Given the description of an element on the screen output the (x, y) to click on. 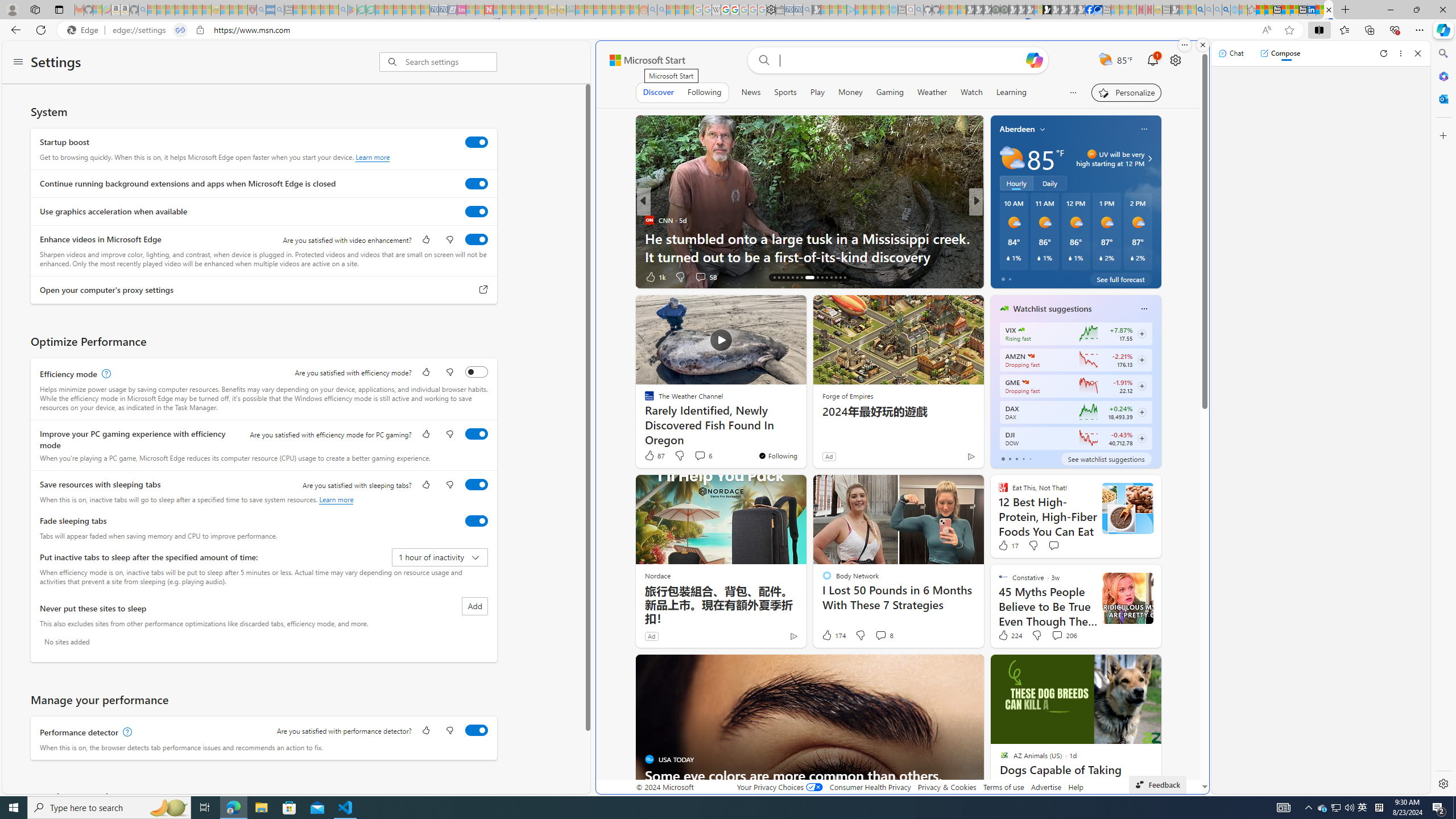
Performance detector (476, 730)
Advertise (1045, 786)
New tab - Sleeping (1165, 9)
DITOGAMES AG Imprint - Sleeping (570, 9)
AutomationID: tab-21 (796, 277)
AutomationID: tab-16 (774, 277)
UV will be very high starting at 12 PM (1147, 158)
View comments 5 Comment (1051, 276)
Personalize your feed" (1126, 92)
